Given the description of an element on the screen output the (x, y) to click on. 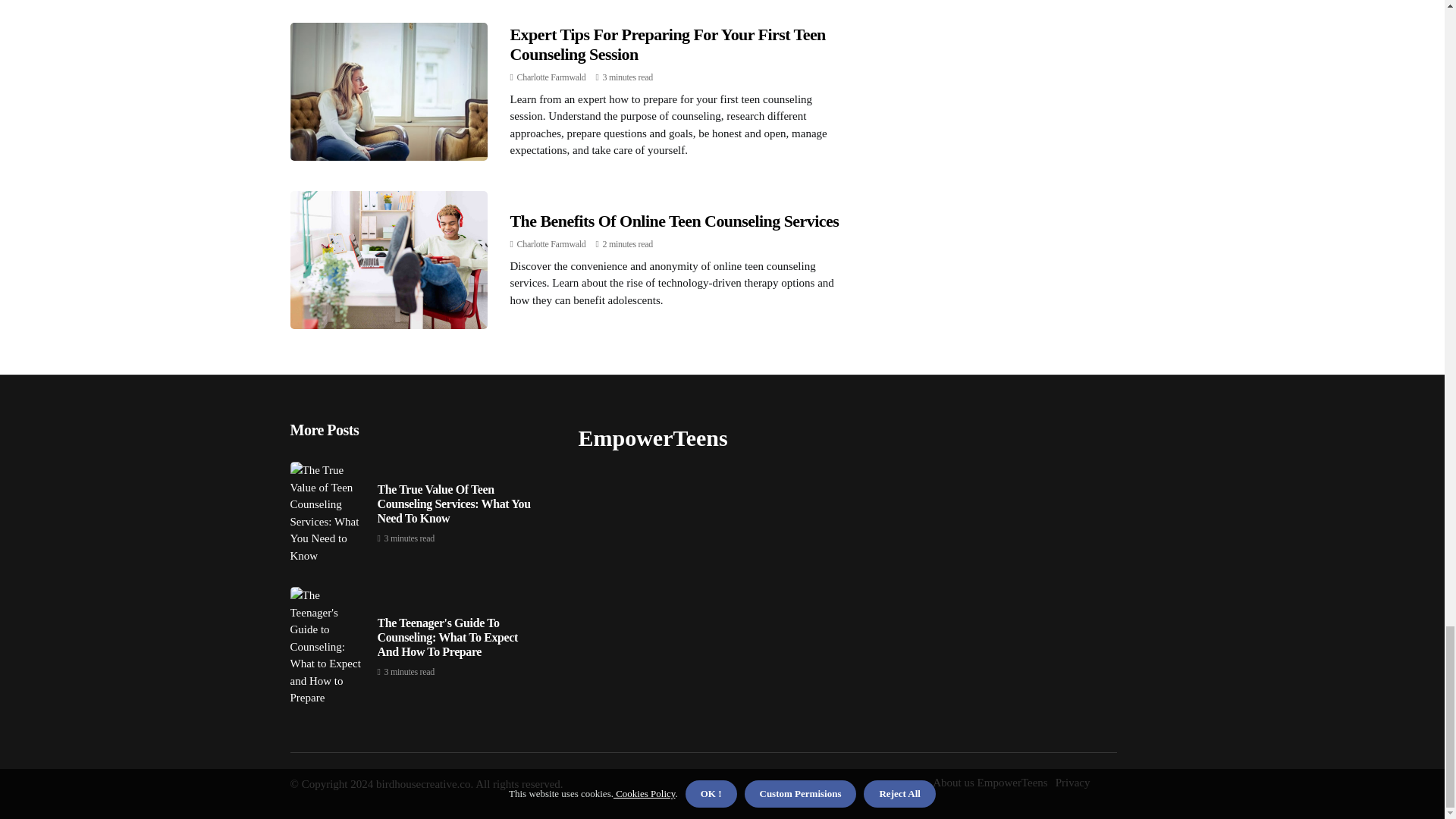
The Benefits Of Online Teen Counseling Services (673, 220)
Posts by Charlotte Farmwald (551, 244)
Charlotte Farmwald (551, 244)
Posts by Charlotte Farmwald (551, 77)
Charlotte Farmwald (551, 77)
